Given the description of an element on the screen output the (x, y) to click on. 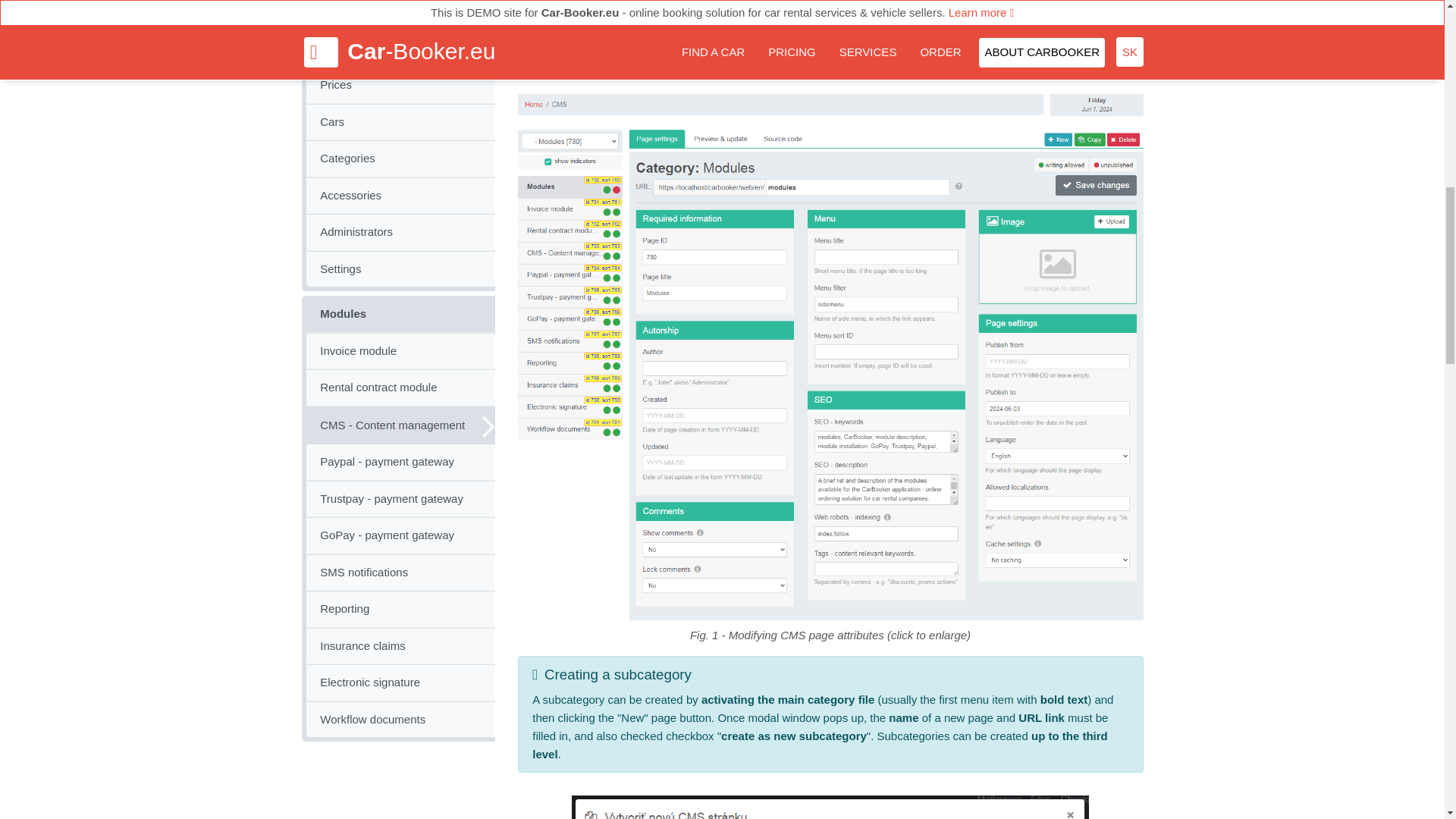
GoPay - payment gateway (400, 535)
Categories (400, 158)
Accessories (400, 195)
Trustpay - payment gateway (400, 498)
Rental contract module (400, 387)
Partners (400, 48)
Prices (400, 85)
Reporting (400, 609)
Cars (400, 121)
Invoice module (400, 350)
Paypal - payment gateway (400, 461)
CMS modal - create new page (830, 807)
Administrators (400, 231)
SMS notifications (400, 571)
